Given the description of an element on the screen output the (x, y) to click on. 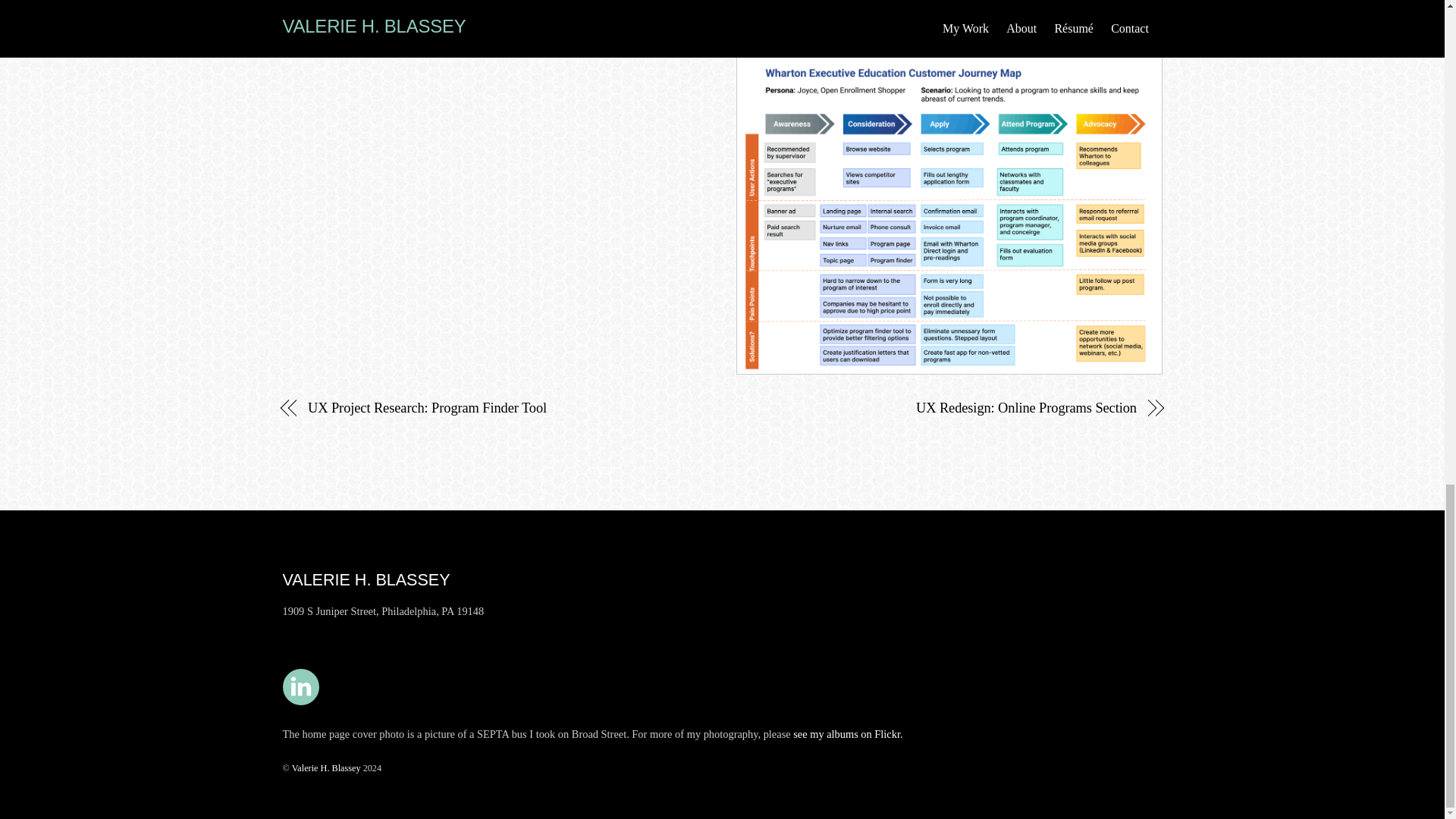
UX Project Research: Program Finder Tool (501, 407)
see my albums on Flickr. (847, 734)
VALERIE H. BLASSEY (365, 579)
Valerie H. Blassey (365, 579)
Valerie H. Blassey (326, 767)
Download Customer Journey Map PDF (398, 15)
UX Redesign: Online Programs Section (942, 407)
wharton-personas-3 (948, 15)
